Given the description of an element on the screen output the (x, y) to click on. 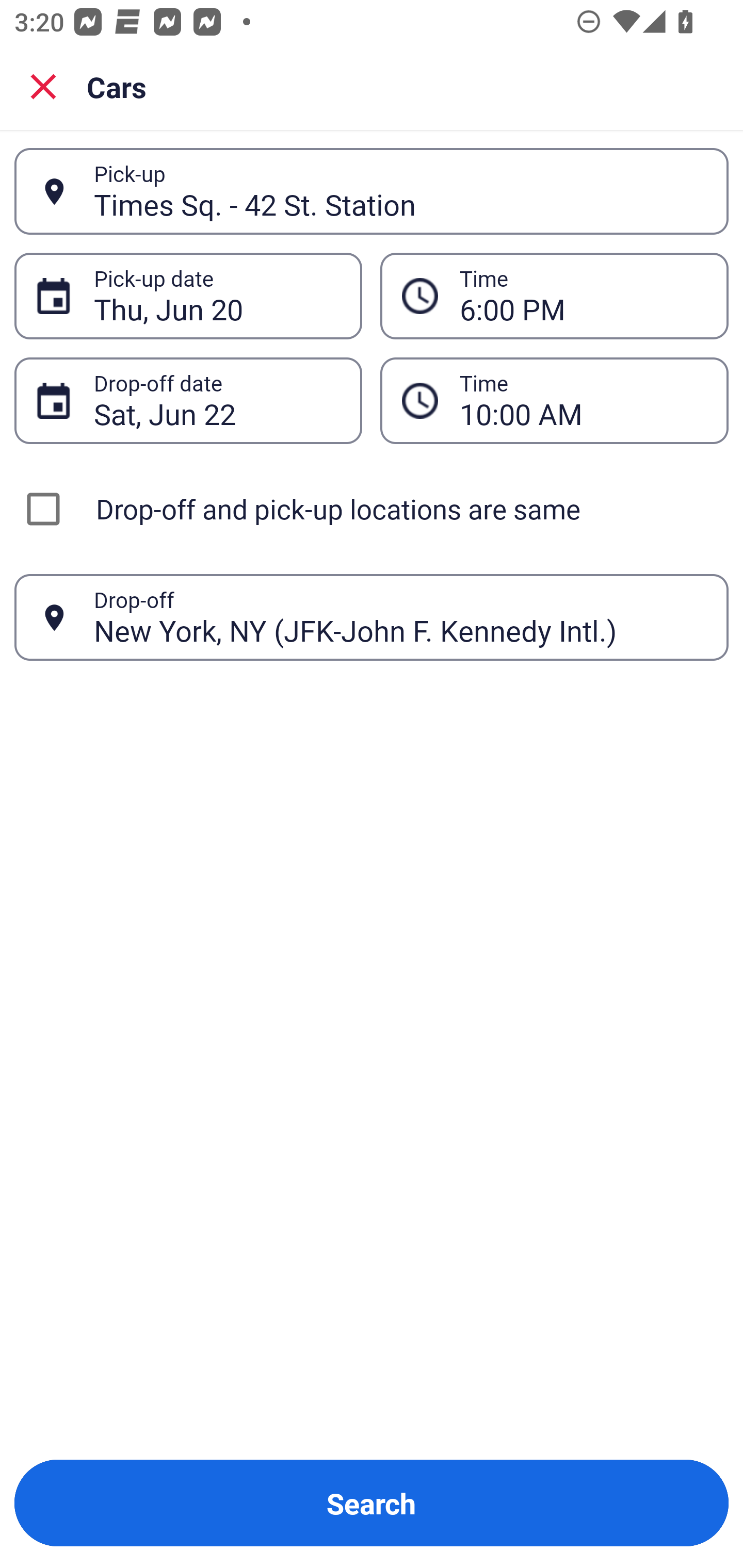
Close search screen (43, 86)
Times Sq. - 42 St. Station Pick-up (371, 191)
Times Sq. - 42 St. Station (399, 191)
Thu, Jun 20 Pick-up date (188, 295)
6:00 PM (554, 295)
Thu, Jun 20 (216, 296)
6:00 PM (582, 296)
Sat, Jun 22 Drop-off date (188, 400)
10:00 AM (554, 400)
Sat, Jun 22 (216, 400)
10:00 AM (582, 400)
Drop-off and pick-up locations are same (371, 508)
New York, NY (JFK-John F. Kennedy Intl.) Drop-off (371, 616)
New York, NY (JFK-John F. Kennedy Intl.) (399, 616)
Search Button Search (371, 1502)
